Given the description of an element on the screen output the (x, y) to click on. 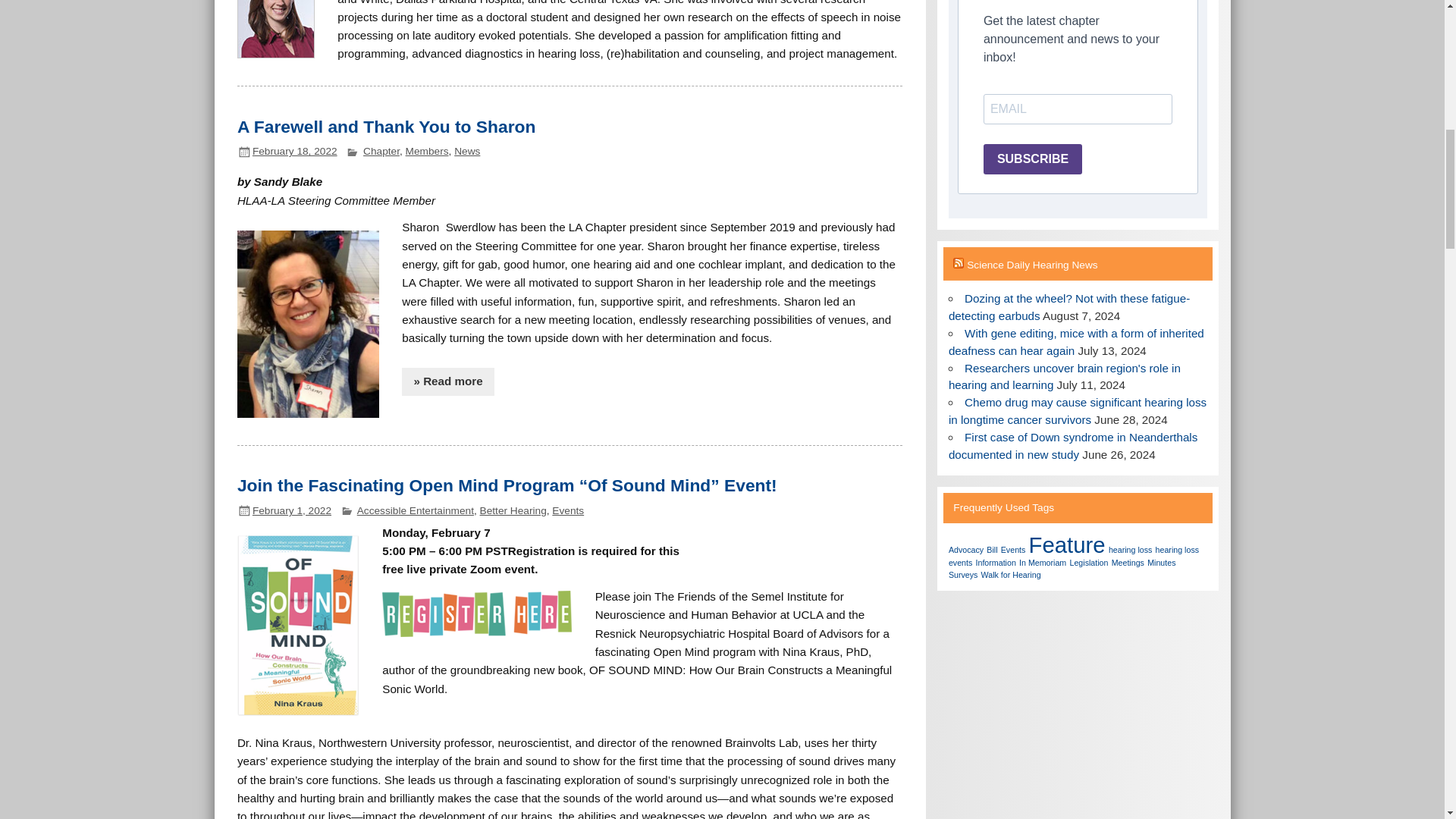
12:42 am (294, 151)
Better Hearing (513, 510)
February 1, 2022 (291, 510)
Accessible Entertainment (415, 510)
Chapter (380, 151)
February 18, 2022 (294, 151)
11:19 pm (291, 510)
A Farewell and Thank You to Sharon (386, 126)
News (467, 151)
Members (427, 151)
